Given the description of an element on the screen output the (x, y) to click on. 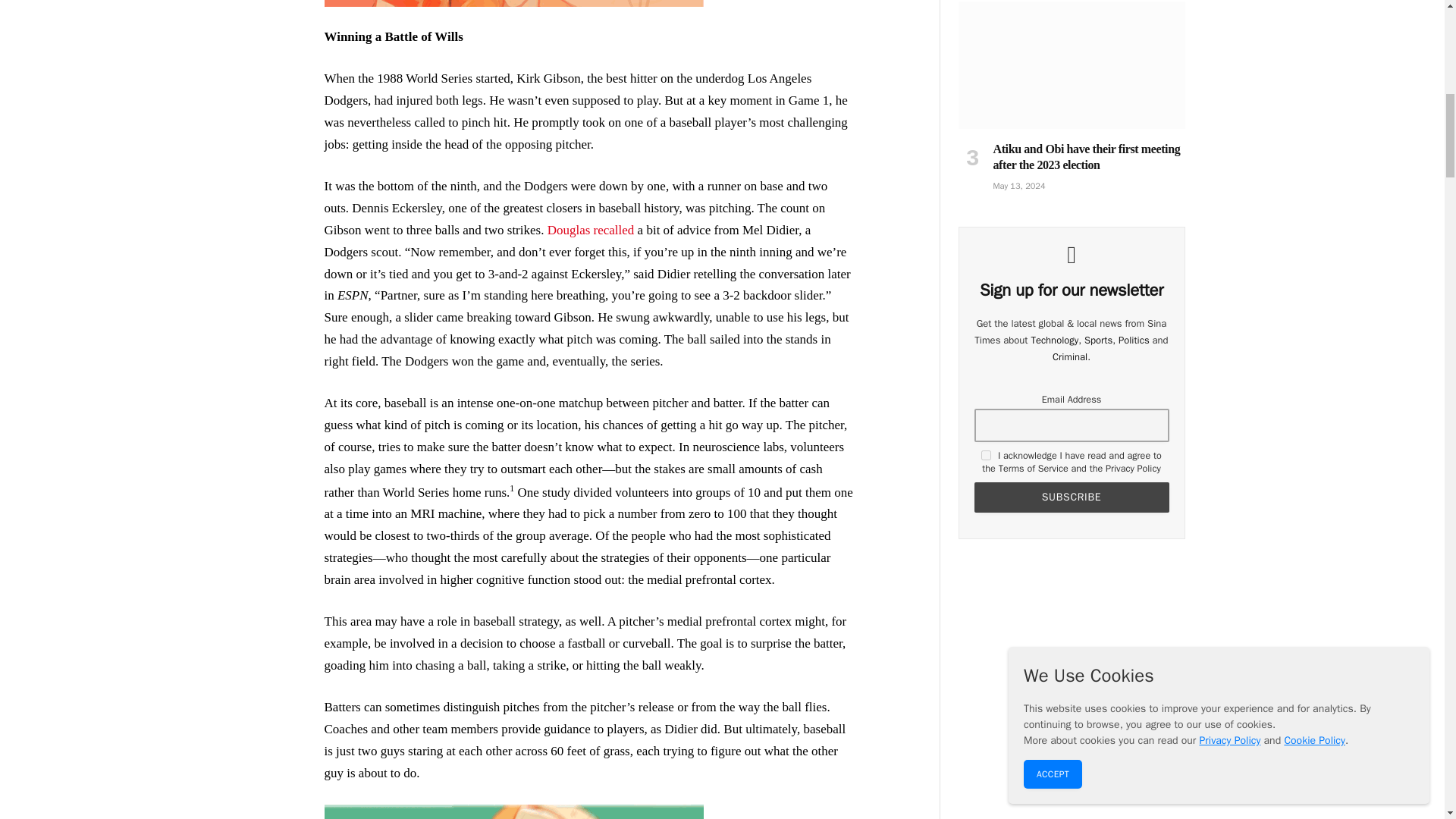
on (986, 455)
Subscribe (1071, 497)
